Given the description of an element on the screen output the (x, y) to click on. 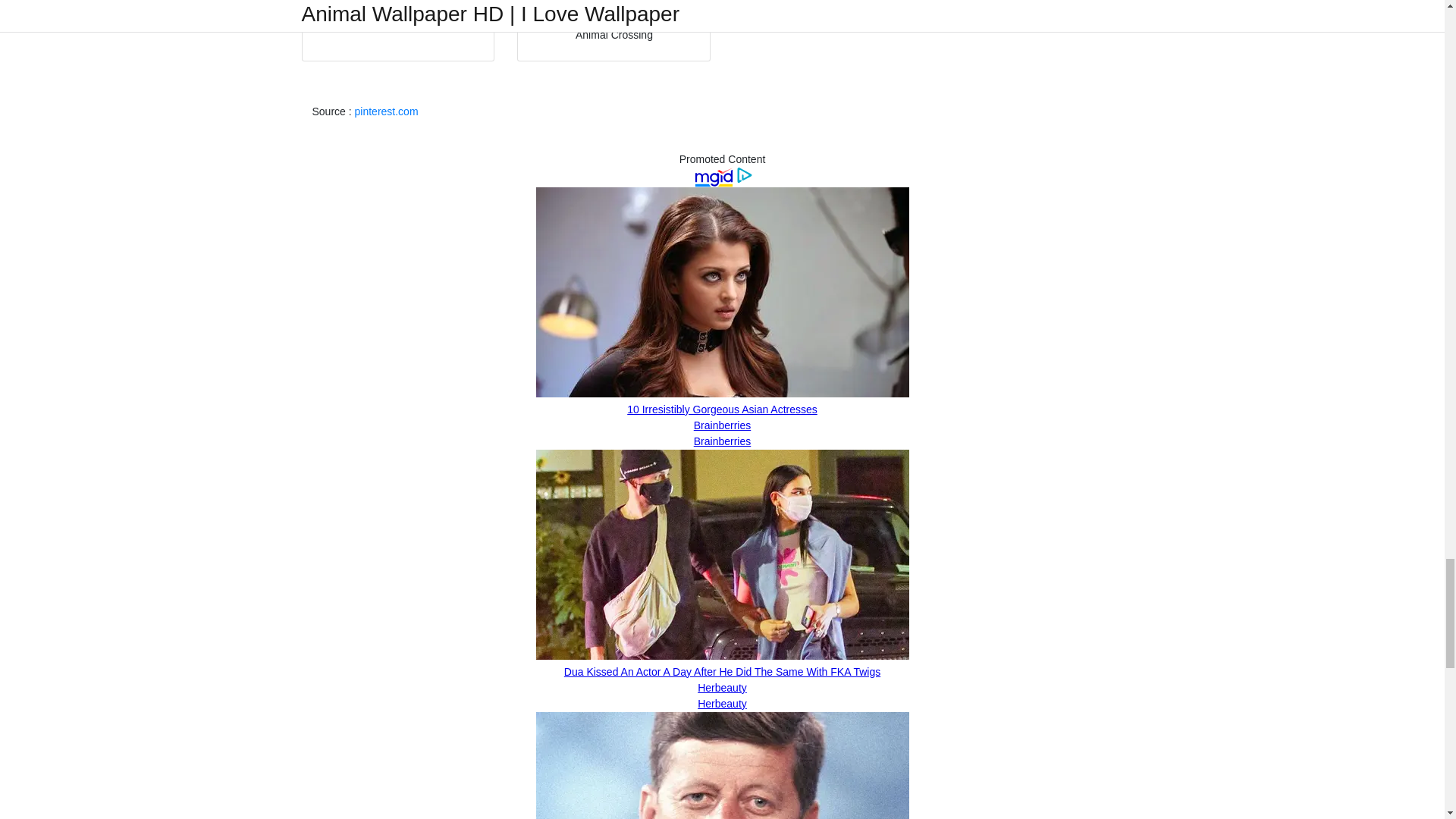
pinterest.com (387, 111)
